Given the description of an element on the screen output the (x, y) to click on. 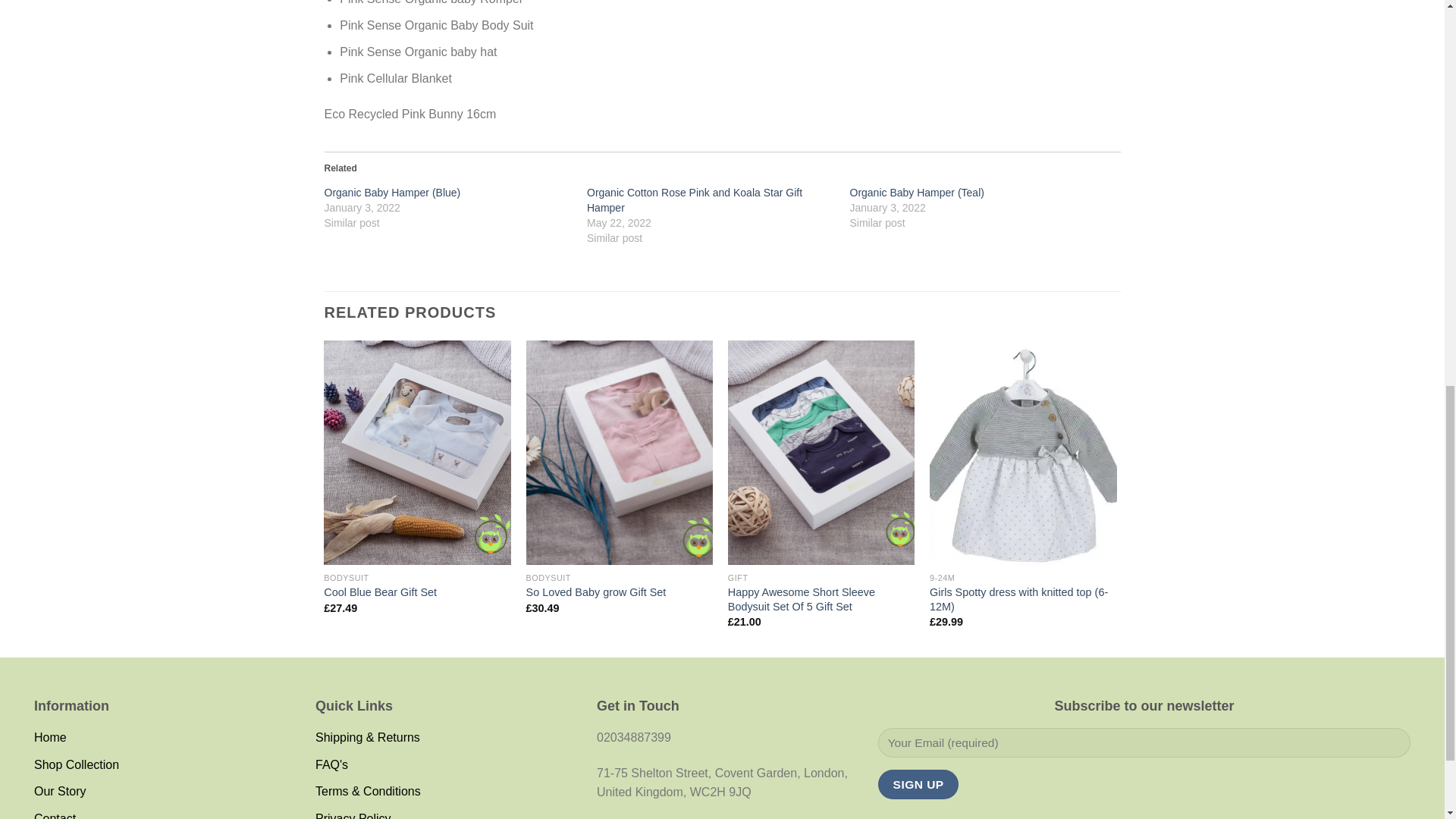
Sign Up (917, 784)
